Given the description of an element on the screen output the (x, y) to click on. 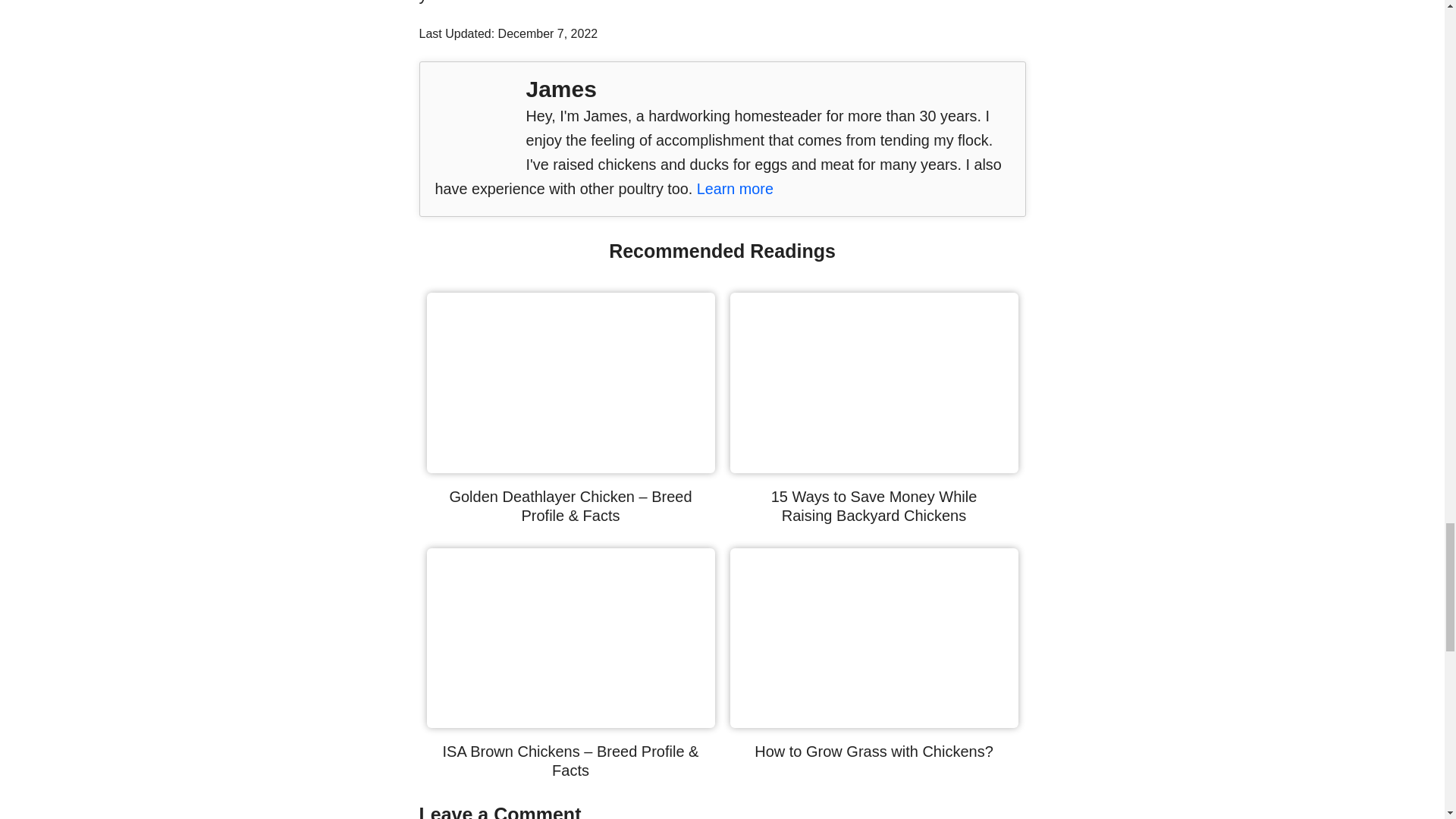
15 Ways to Save Money While Raising Backyard Chickens (873, 466)
How to Grow Grass with Chickens? (873, 751)
How to Grow Grass with Chickens? (873, 751)
How to Grow Grass with Chickens? (873, 722)
Learn more (735, 188)
15 Ways to Save Money While Raising Backyard Chickens (873, 506)
15 Ways to Save Money While Raising Backyard Chickens (873, 506)
